Given the description of an element on the screen output the (x, y) to click on. 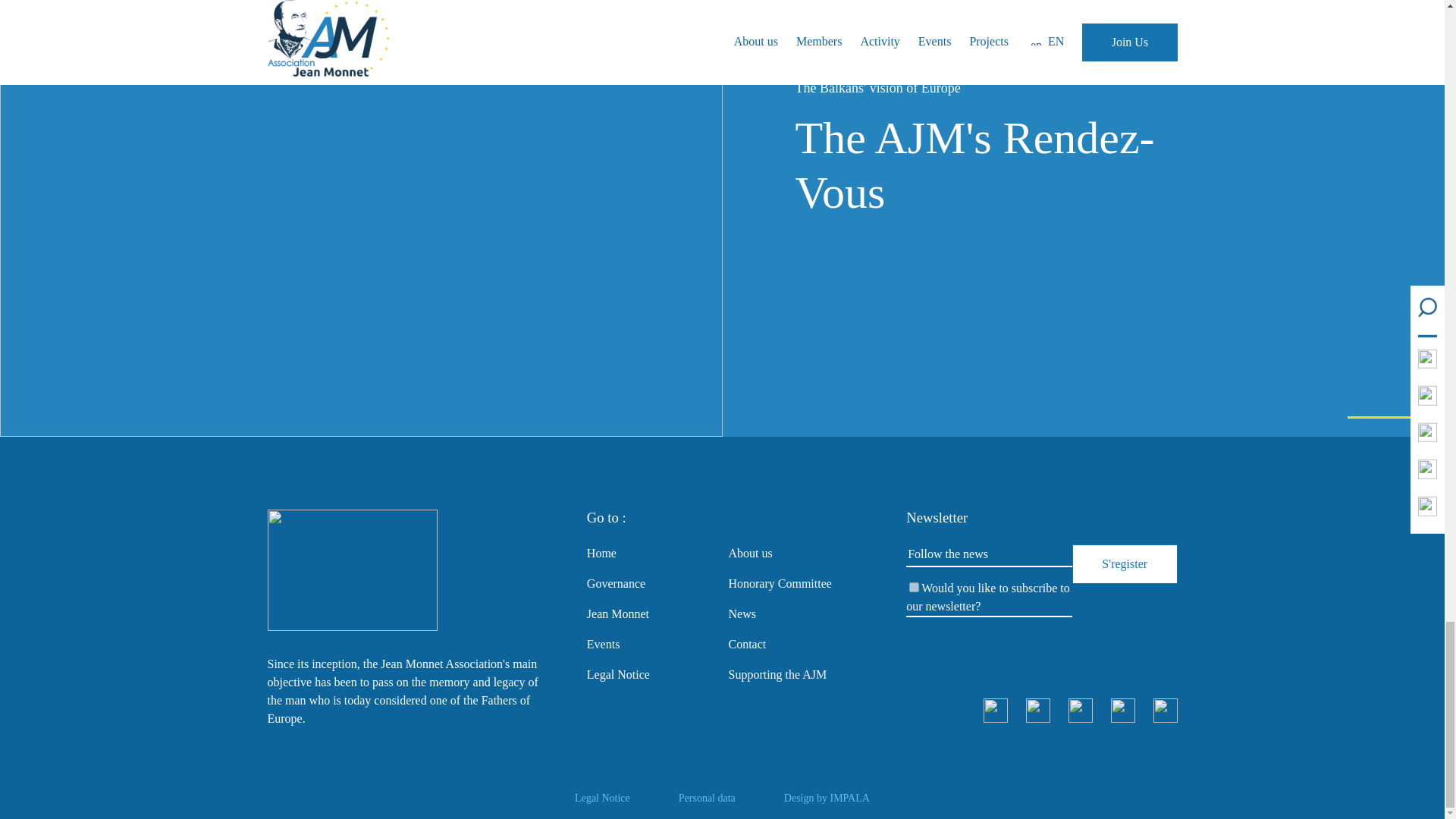
1 (913, 587)
